Given the description of an element on the screen output the (x, y) to click on. 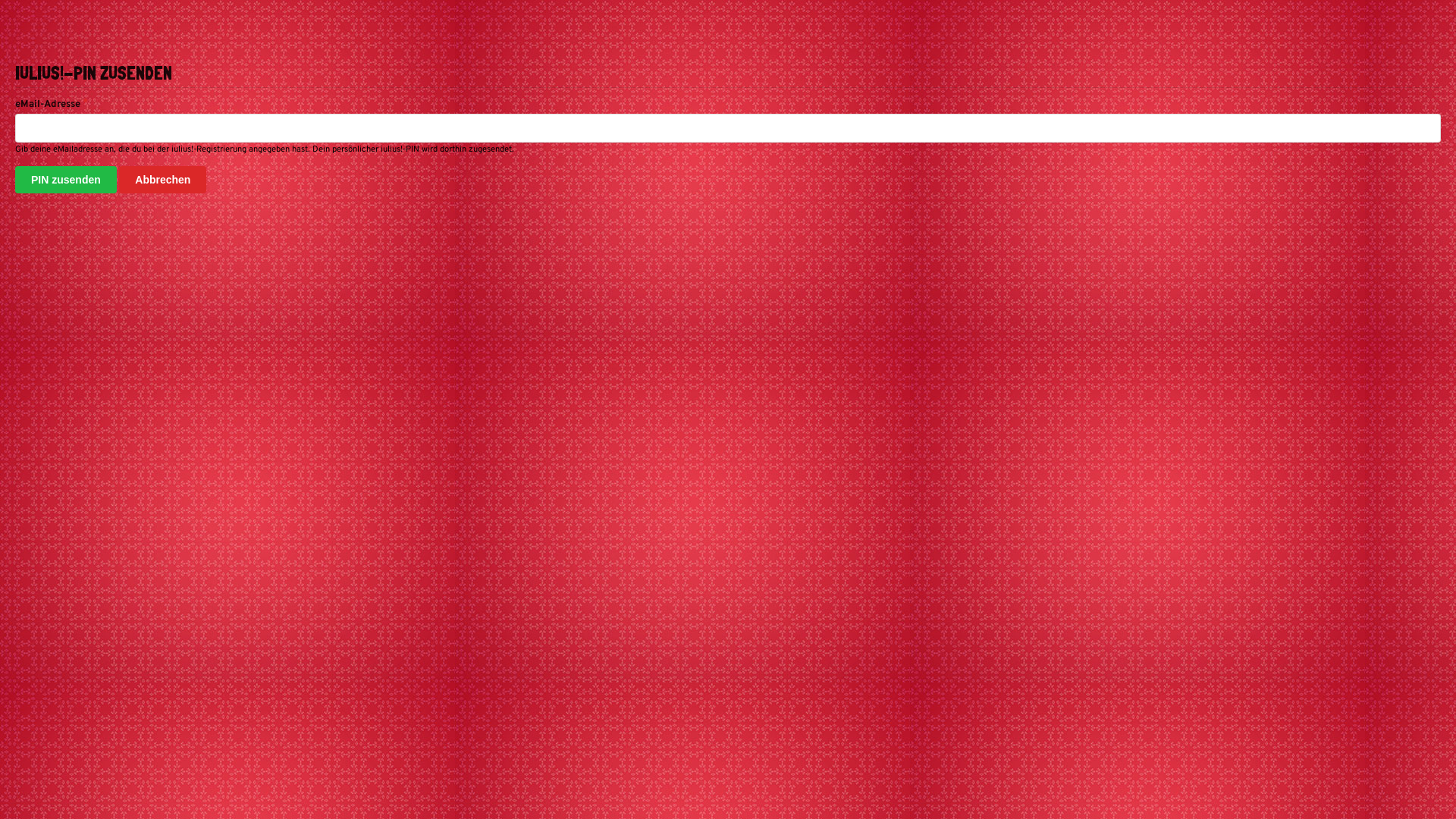
Abbrechen Element type: text (162, 179)
PIN zusenden Element type: text (65, 179)
